Given the description of an element on the screen output the (x, y) to click on. 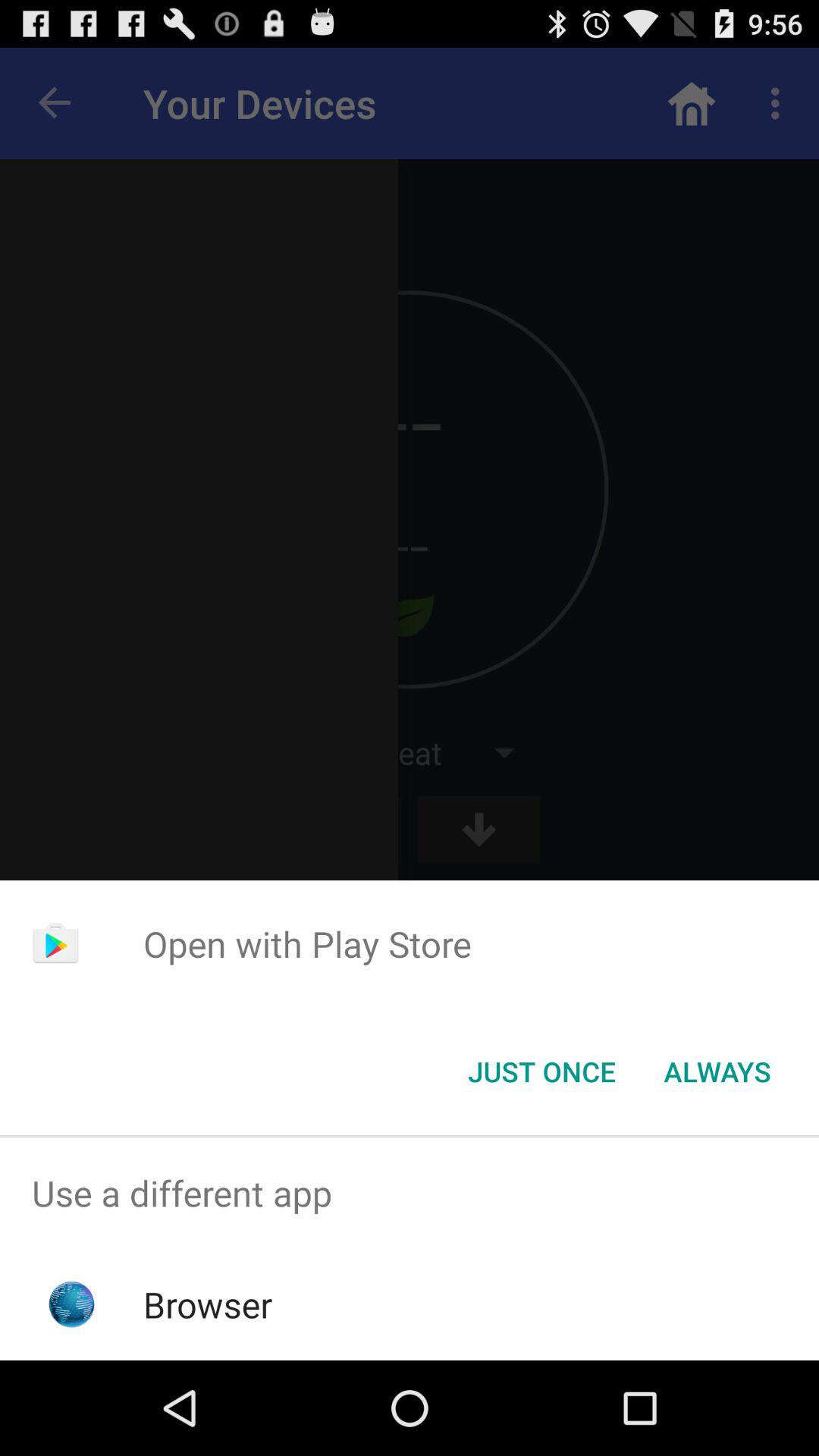
press the icon to the right of the just once icon (717, 1071)
